Given the description of an element on the screen output the (x, y) to click on. 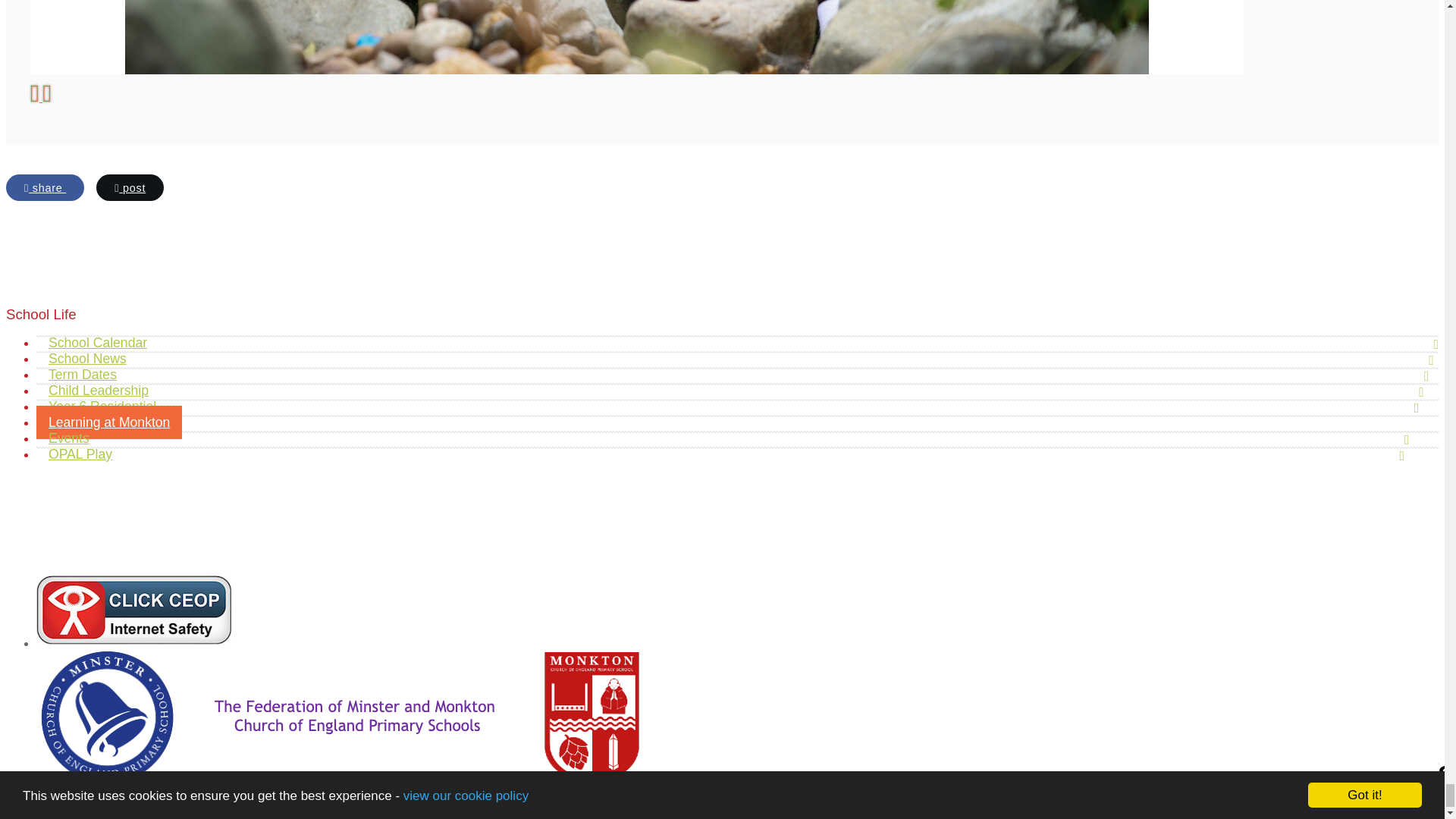
Post on X (129, 187)
Share on Facebook (44, 187)
CEOP (133, 643)
Monkton (339, 779)
